Given the description of an element on the screen output the (x, y) to click on. 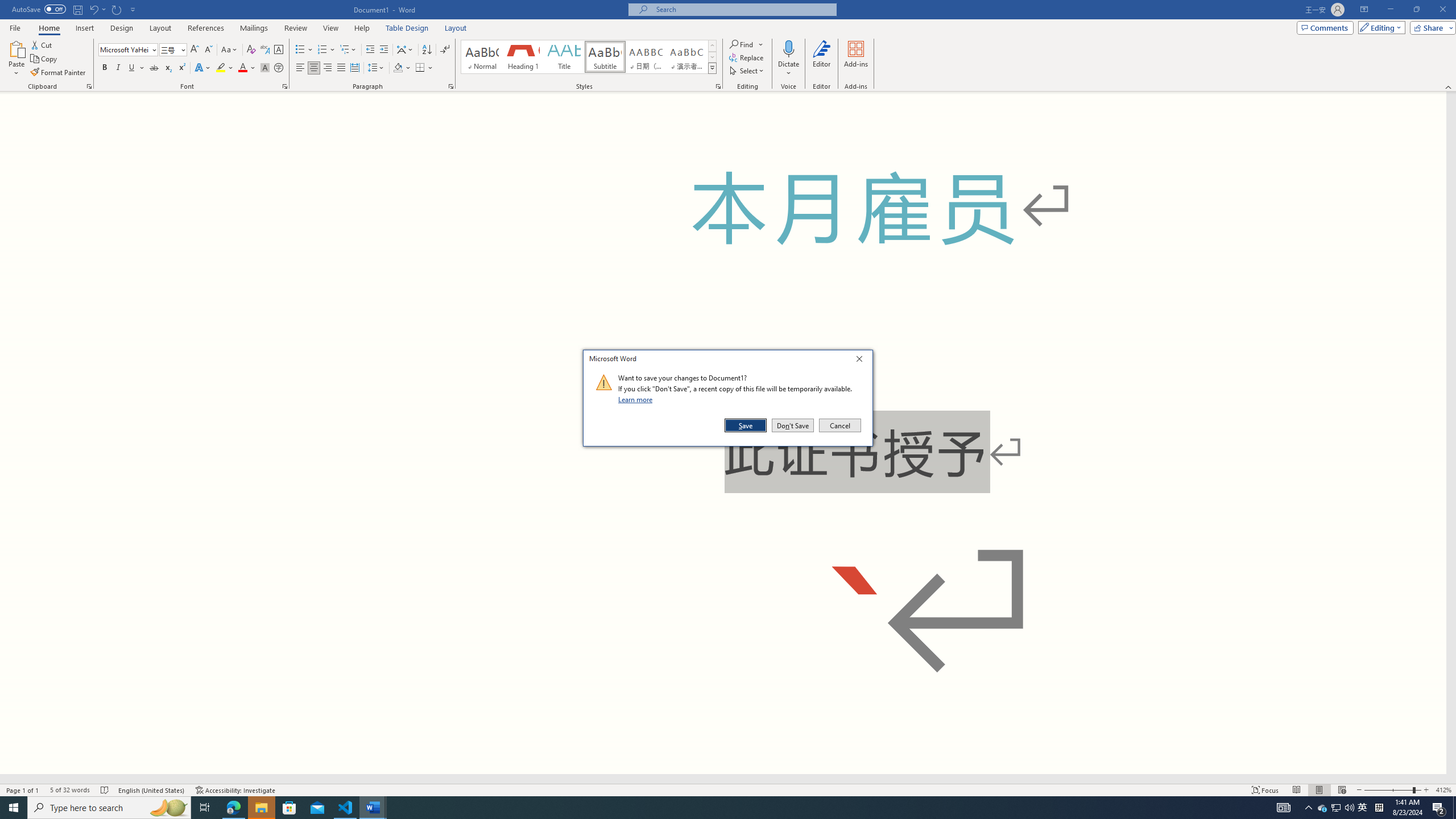
Shrink Font (208, 49)
Undo Superscript (96, 9)
Styles (711, 67)
Distributed (354, 67)
Subscript (167, 67)
